Given the description of an element on the screen output the (x, y) to click on. 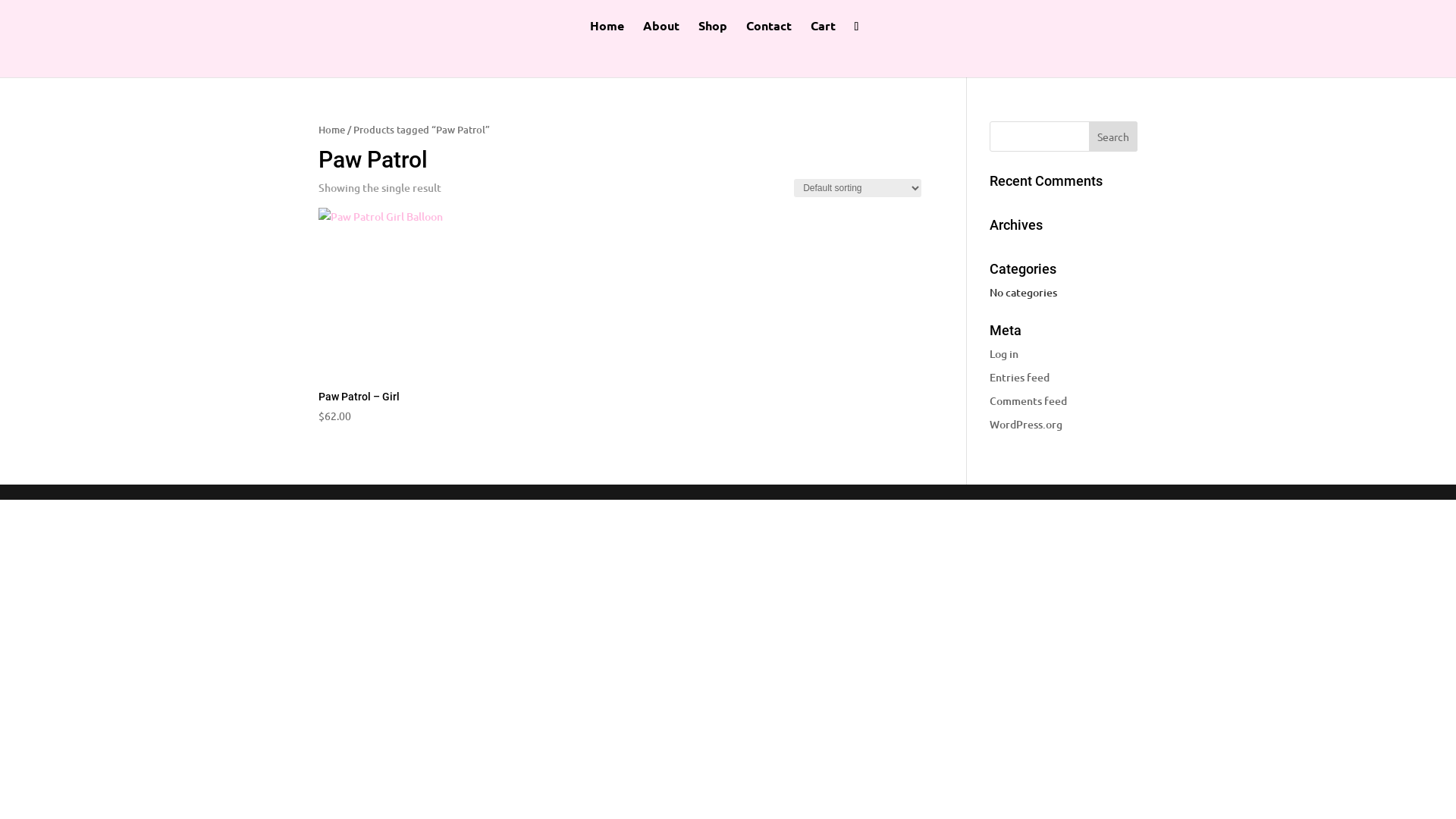
WordPress.org Element type: text (1025, 424)
Home Element type: text (331, 129)
Home Element type: text (606, 33)
Shop Element type: text (712, 33)
Entries feed Element type: text (1019, 377)
About Element type: text (661, 33)
Search Element type: text (1112, 136)
Contact Element type: text (768, 33)
Comments feed Element type: text (1027, 400)
Log in Element type: text (1003, 353)
Cart Element type: text (822, 33)
